Given the description of an element on the screen output the (x, y) to click on. 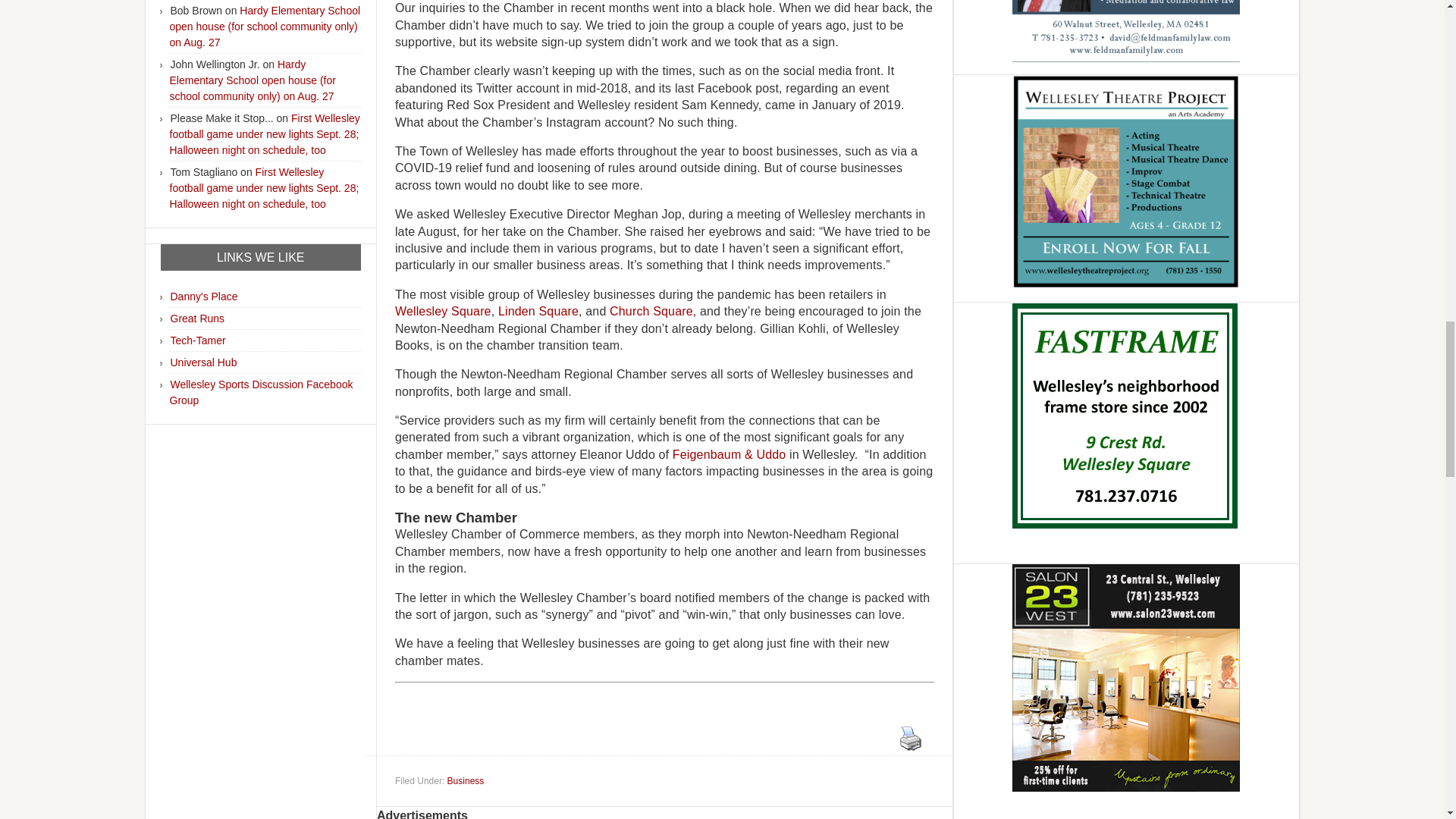
Linden Square (537, 310)
Church Square, (655, 310)
Wellesley Square (443, 310)
Print Content (910, 738)
